Given the description of an element on the screen output the (x, y) to click on. 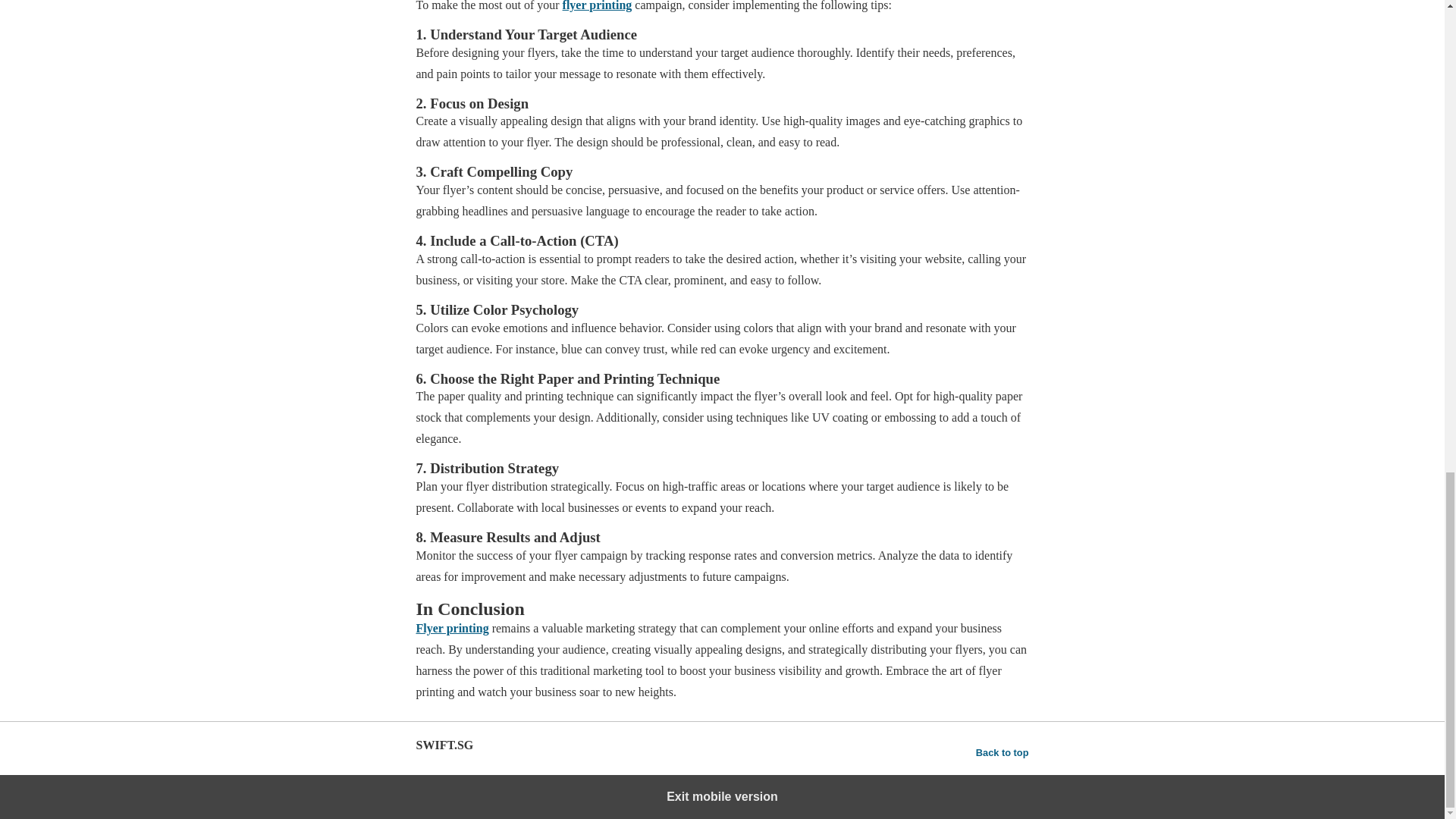
Flyer printing (450, 627)
flyer printing (596, 5)
Back to top (1002, 752)
